Given the description of an element on the screen output the (x, y) to click on. 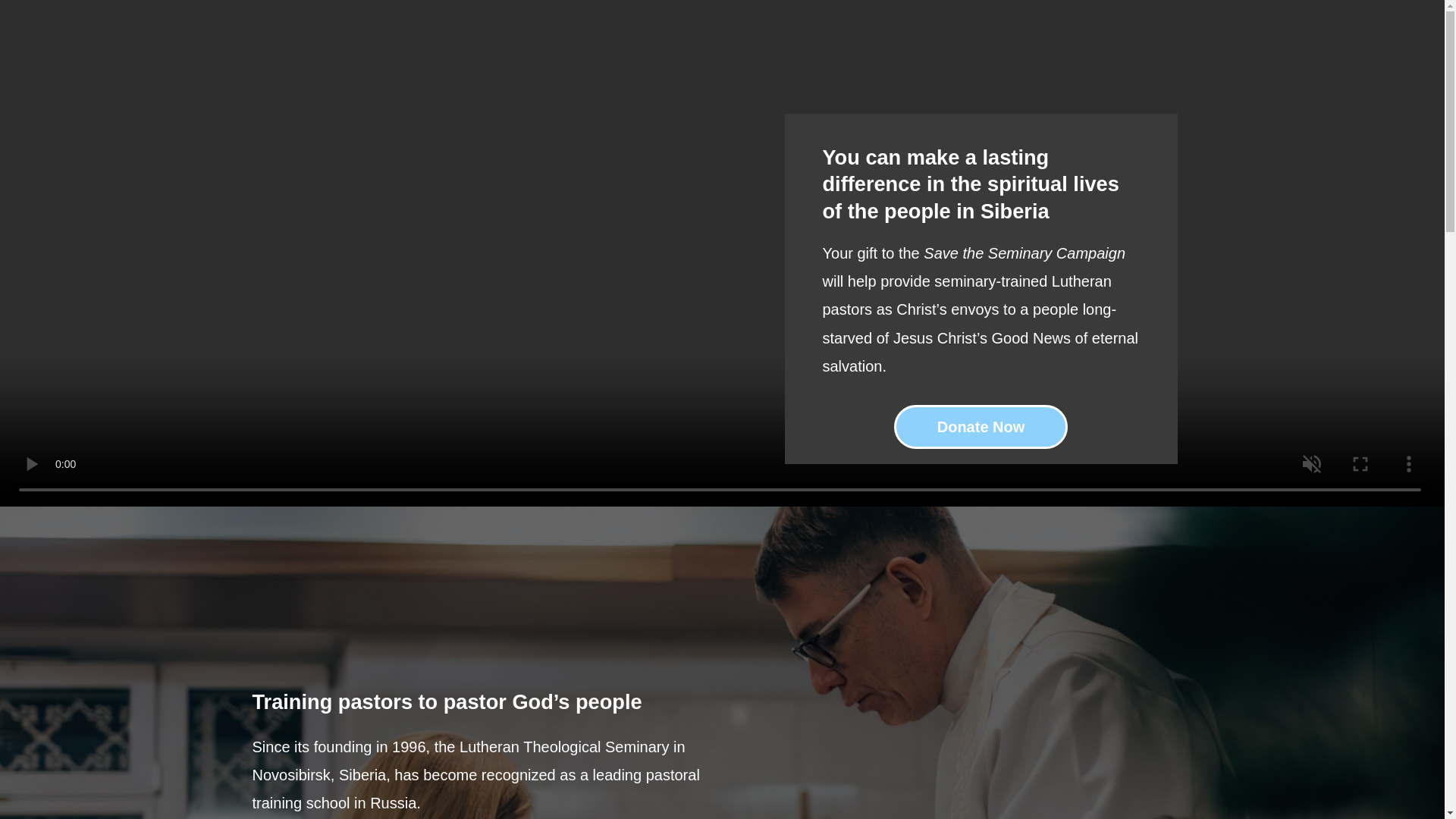
Donate Now (980, 426)
